Given the description of an element on the screen output the (x, y) to click on. 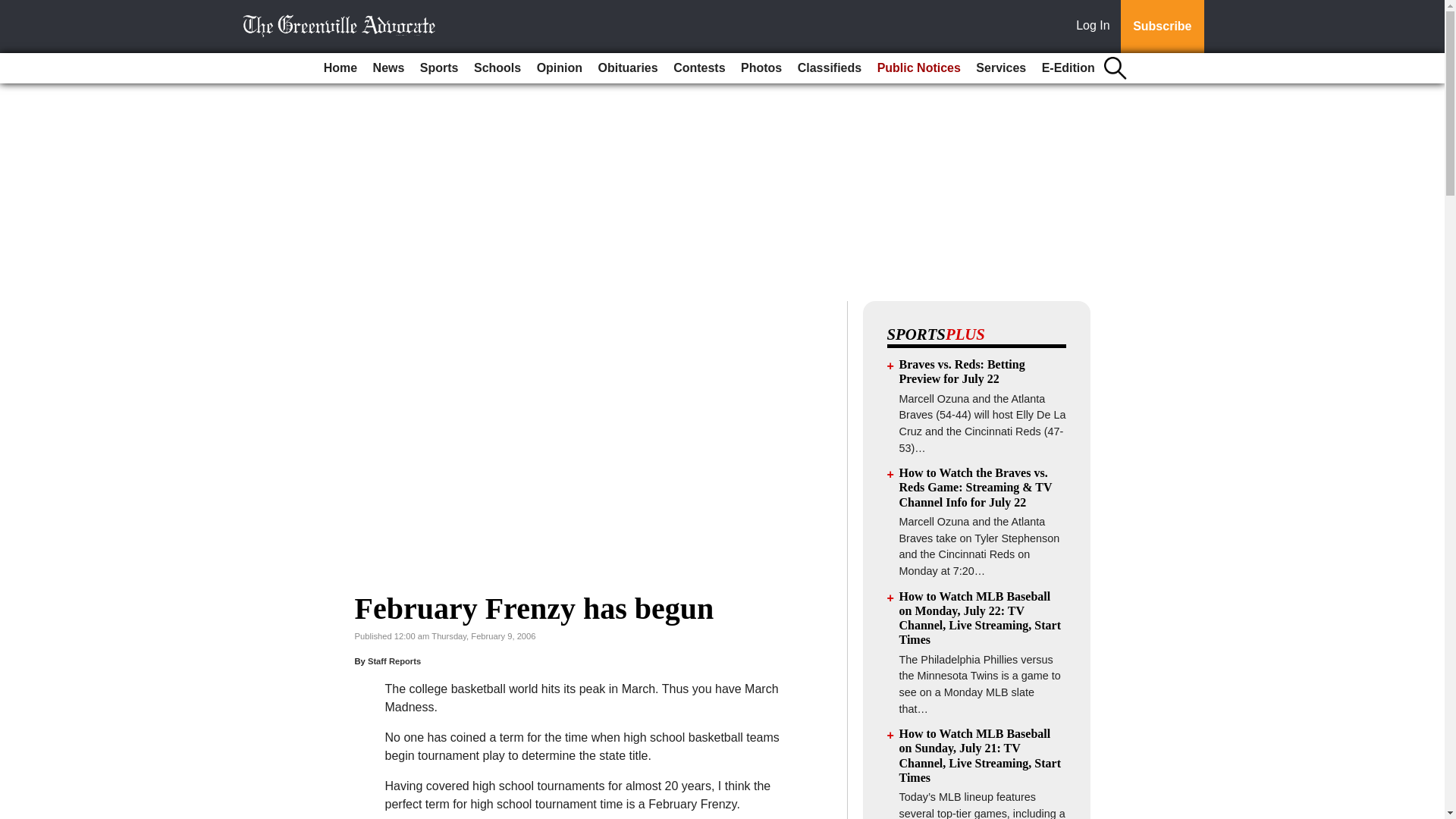
Sports (438, 68)
Go (13, 9)
Log In (1095, 26)
Staff Reports (394, 660)
Services (1000, 68)
Contests (698, 68)
Braves vs. Reds: Betting Preview for July 22 (962, 370)
Schools (497, 68)
Opinion (559, 68)
Obituaries (627, 68)
Home (339, 68)
News (388, 68)
Classifieds (829, 68)
Public Notices (918, 68)
